Given the description of an element on the screen output the (x, y) to click on. 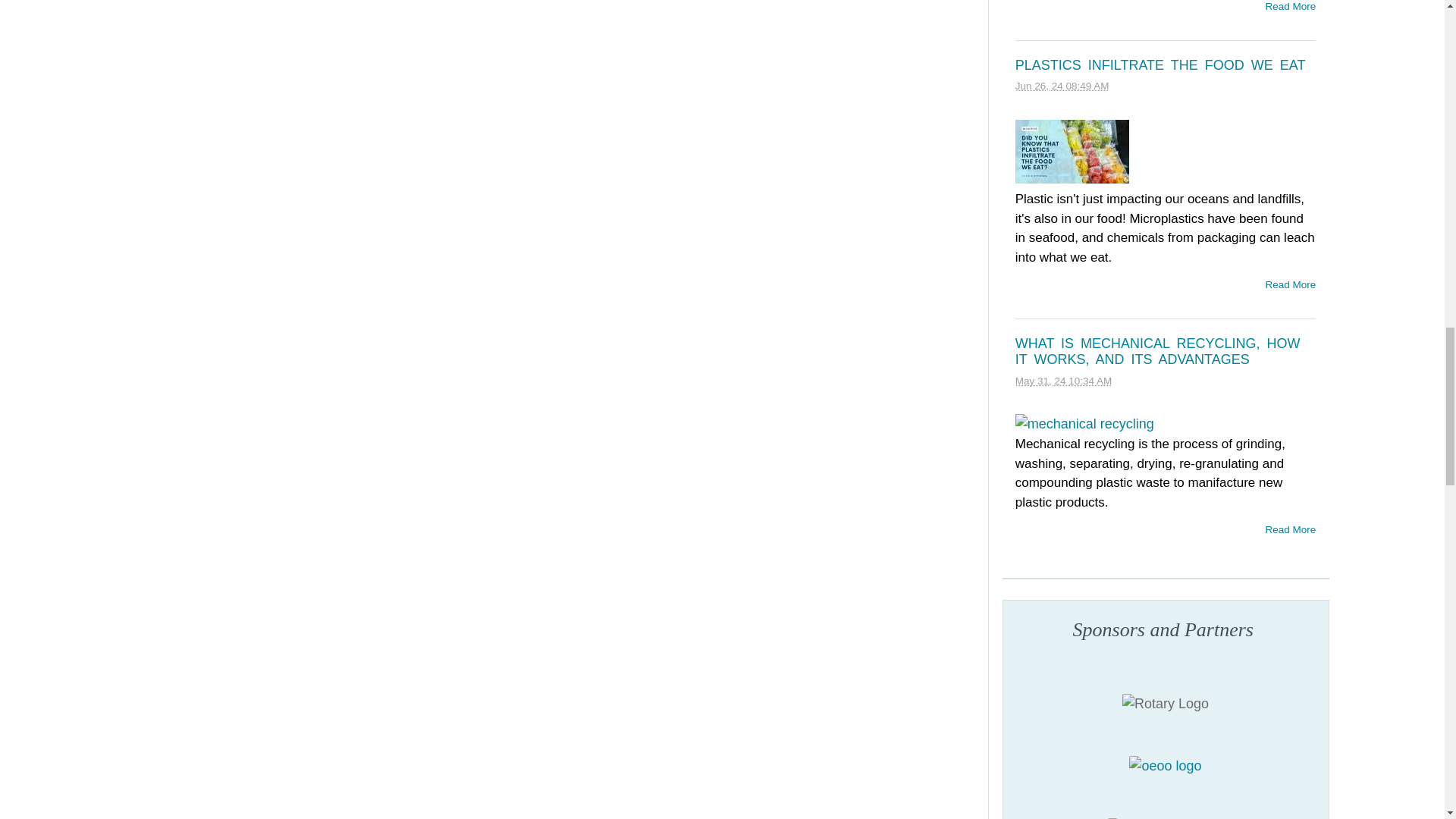
oeoo logo (1165, 765)
2024-06-26T08:49:11-0400 (1061, 85)
Rotary Logo (1165, 703)
2024-05-31T10:34:03-0400 (1063, 380)
Go to Setting up a recycling structure in Bocas del Toro (1165, 765)
